Given the description of an element on the screen output the (x, y) to click on. 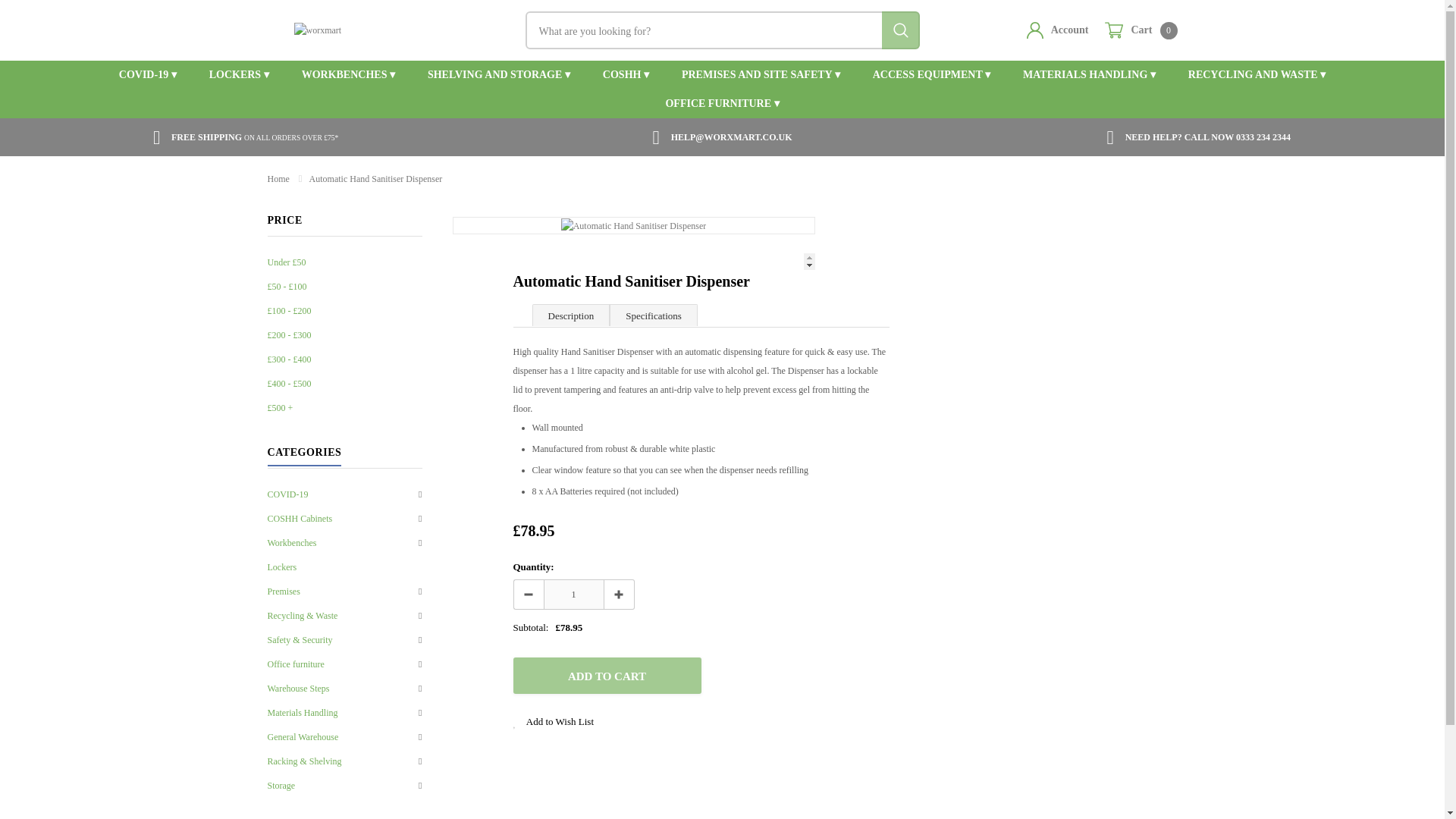
Account (1140, 30)
1 (1057, 30)
Add to Cart (573, 594)
